Given the description of an element on the screen output the (x, y) to click on. 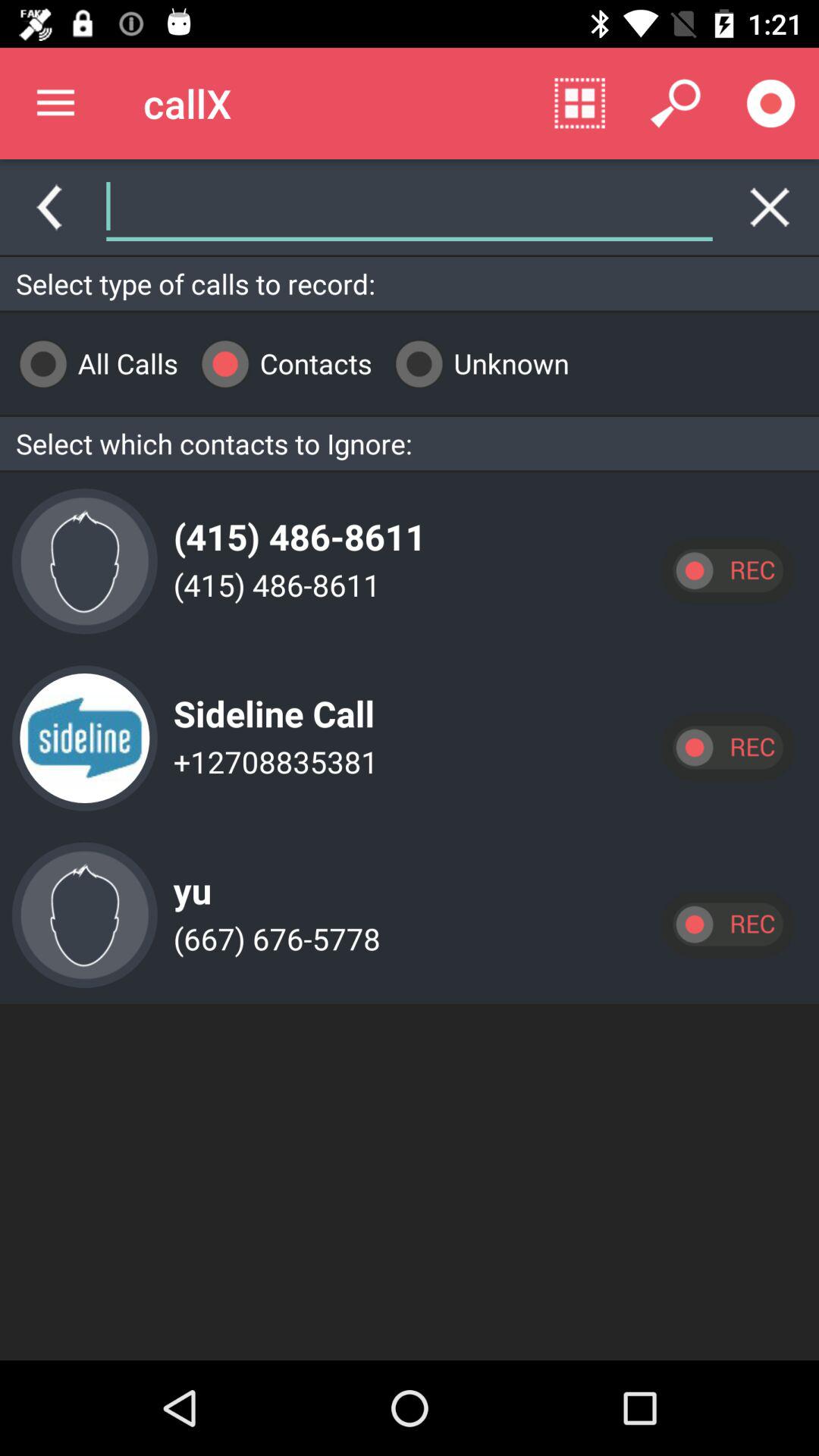
press app below the yu icon (272, 938)
